Given the description of an element on the screen output the (x, y) to click on. 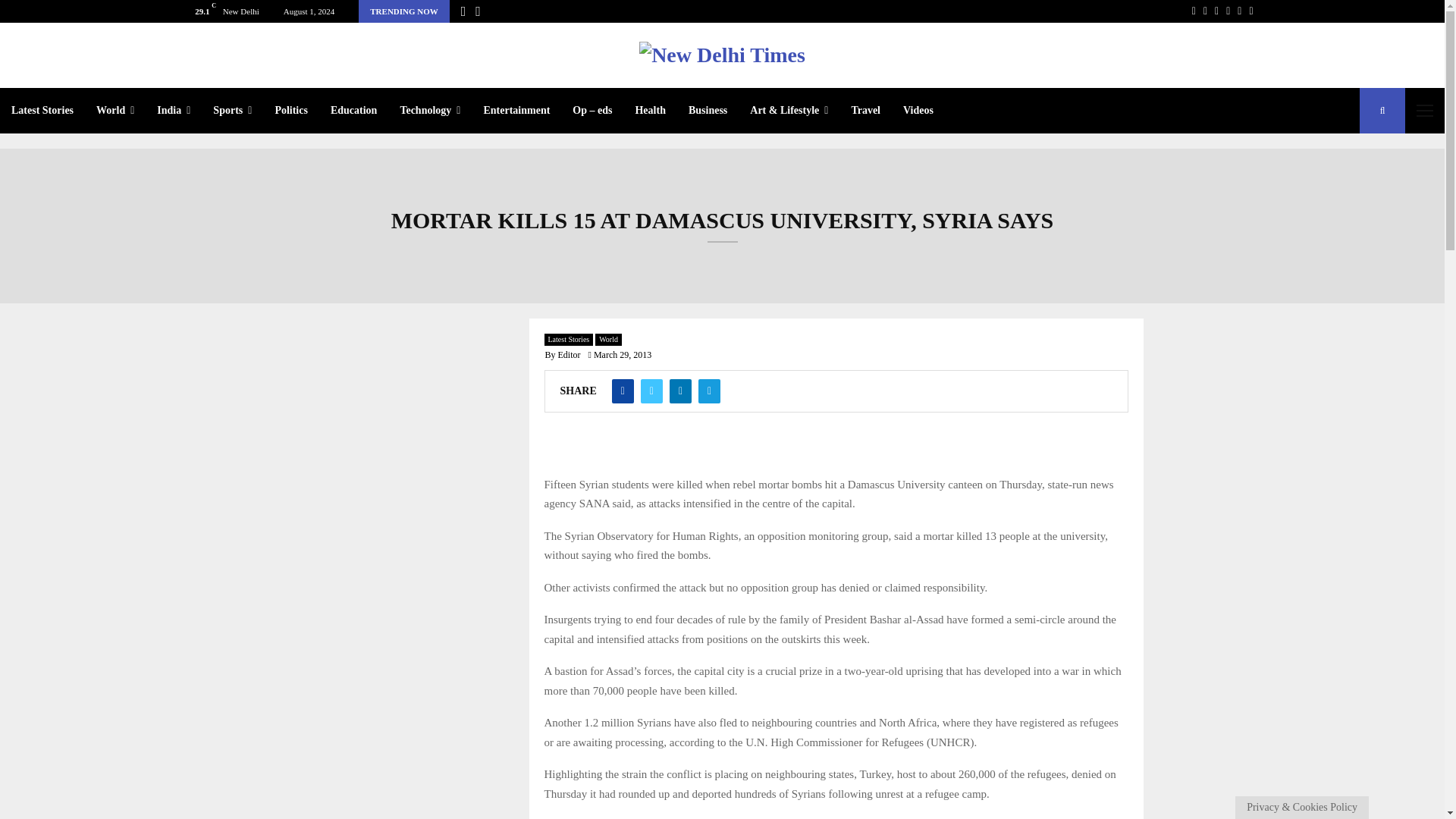
Latest Stories (42, 110)
